Given the description of an element on the screen output the (x, y) to click on. 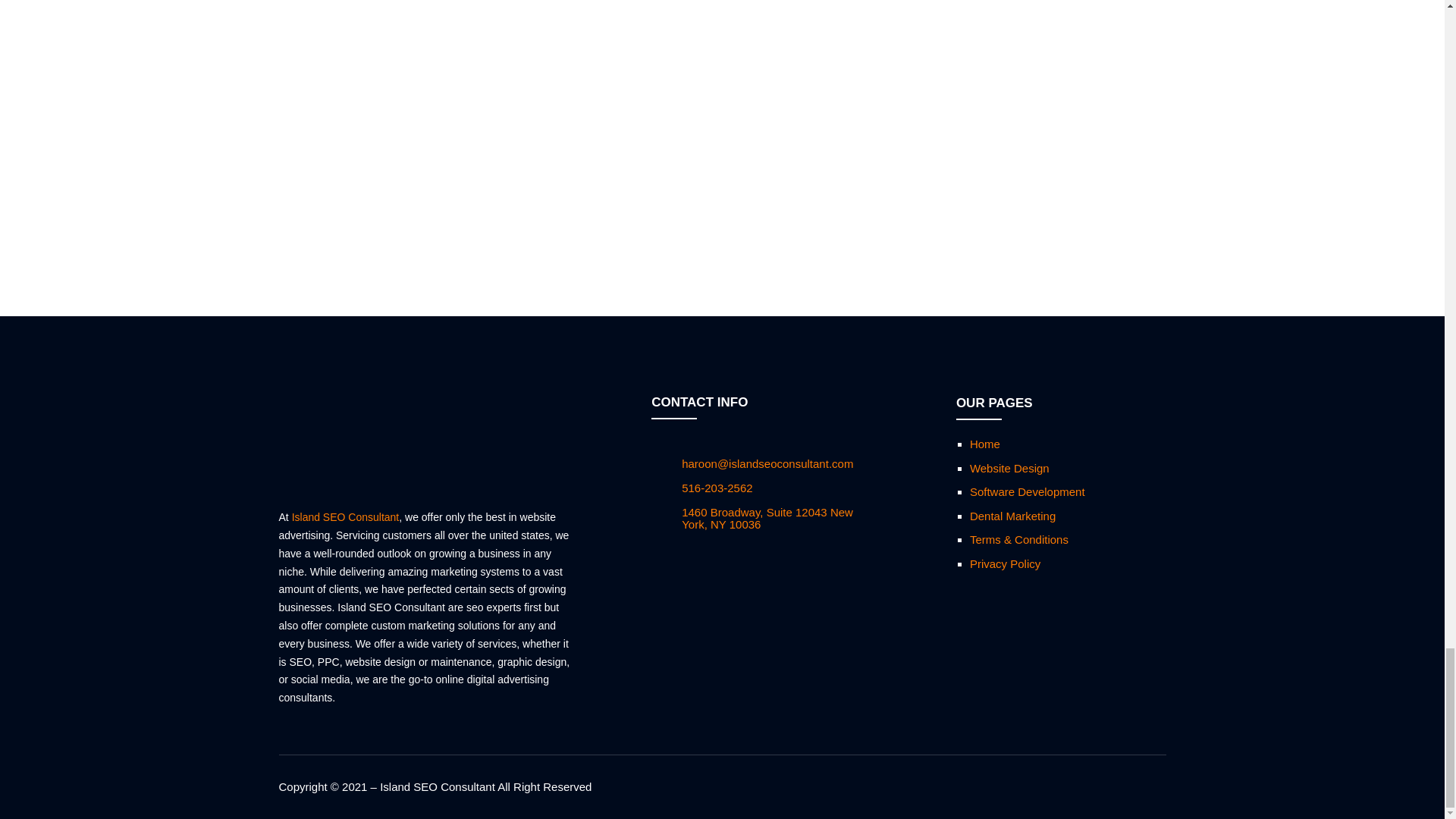
Website Design (1009, 468)
1460 Broadway, Suite 12043 New York, NY 10036 (767, 518)
Software Development (1026, 491)
Island SEO Logo (346, 439)
Privacy Policy (1005, 563)
516-203-2562 (716, 487)
Dental Marketing (1012, 515)
Home (984, 443)
